Given the description of an element on the screen output the (x, y) to click on. 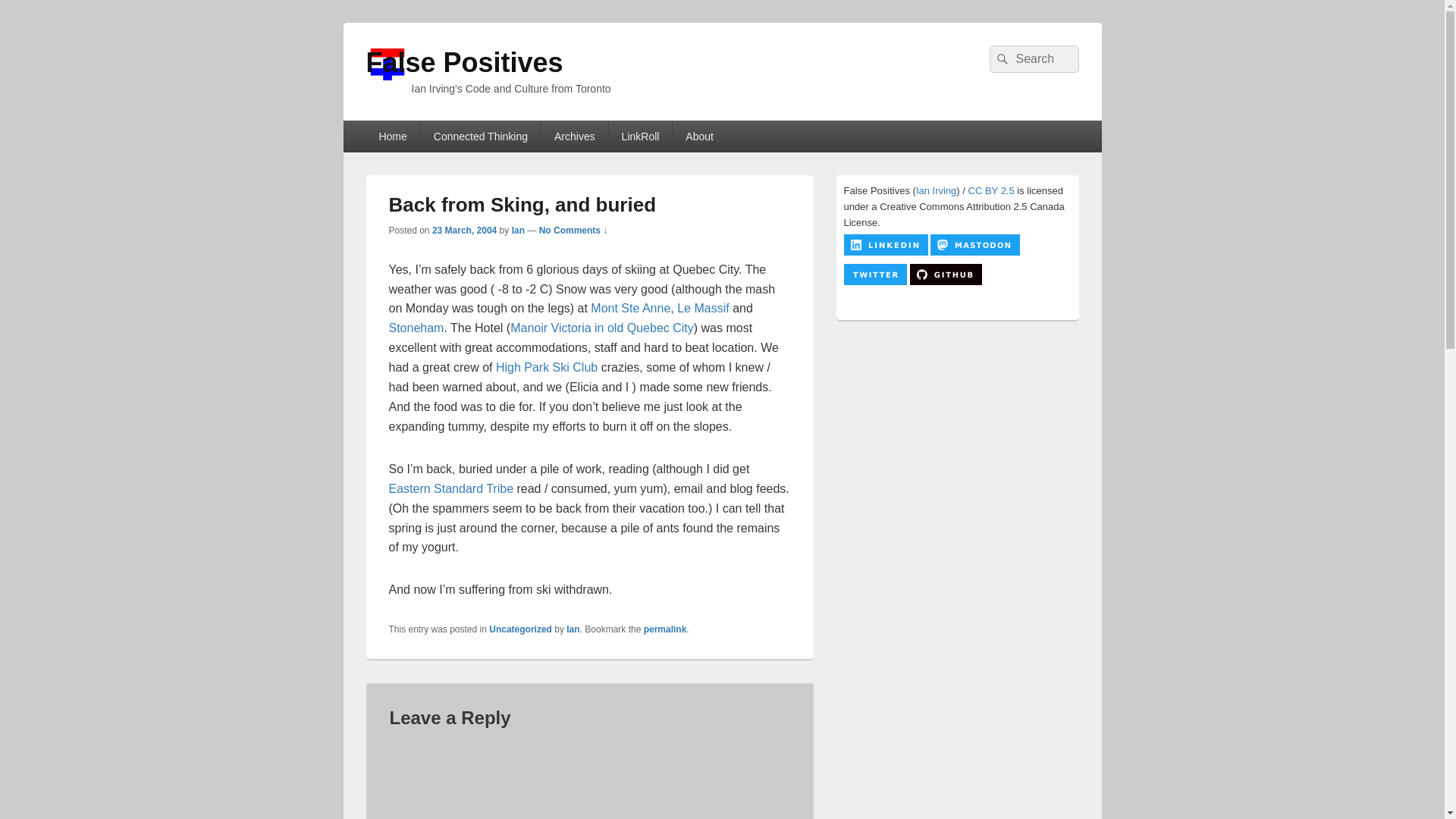
6:38 pm (464, 230)
High Park Ski Club (546, 367)
Connected Thinking (480, 136)
Uncategorized (520, 629)
Comment Form (590, 778)
Archives (574, 136)
Permalink to Back from Sking, and buried (665, 629)
False Positives (463, 61)
23 March, 2004 (464, 230)
Stoneham (416, 327)
